Given the description of an element on the screen output the (x, y) to click on. 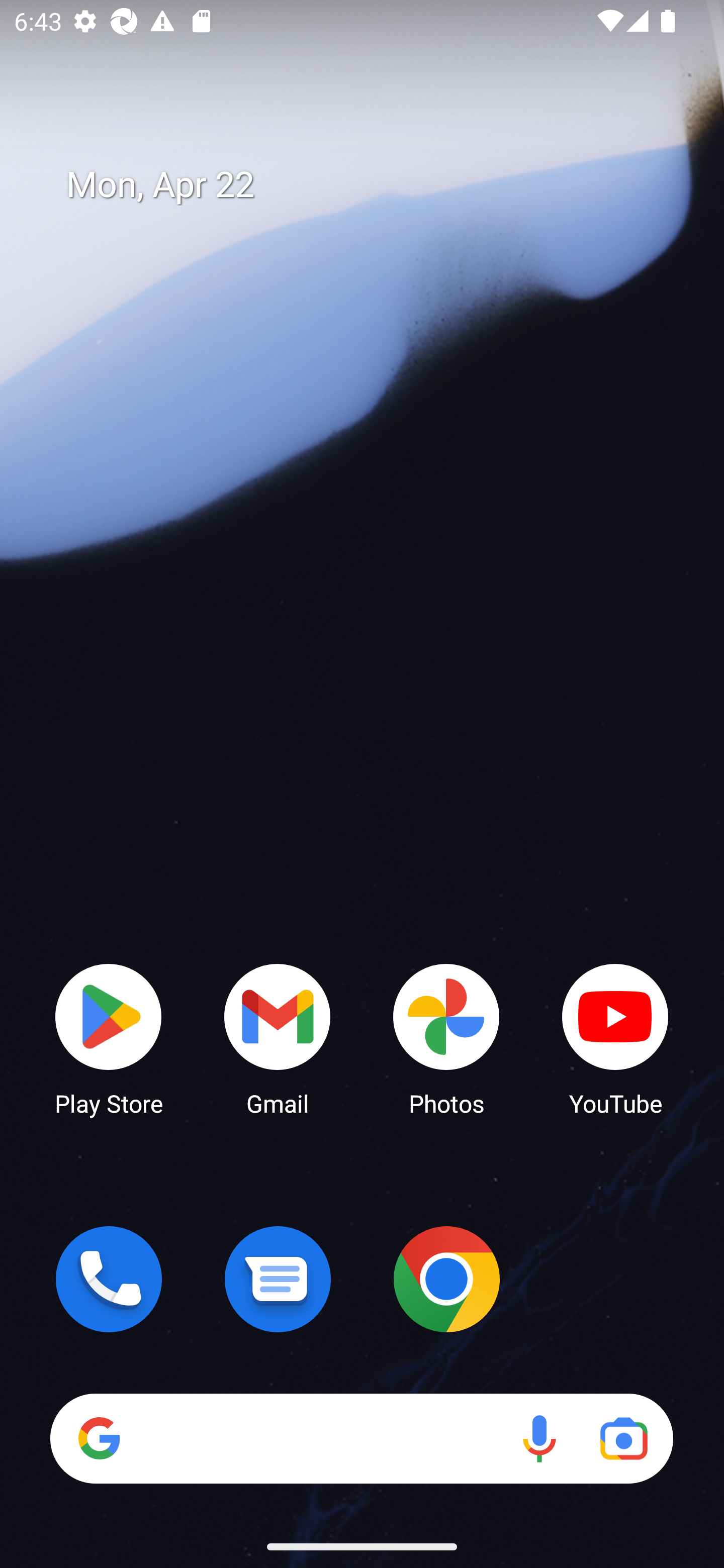
Mon, Apr 22 (375, 184)
Play Store (108, 1038)
Gmail (277, 1038)
Photos (445, 1038)
YouTube (615, 1038)
Phone (108, 1279)
Messages (277, 1279)
Chrome (446, 1279)
Search Voice search Google Lens (361, 1438)
Voice search (539, 1438)
Google Lens (623, 1438)
